Given the description of an element on the screen output the (x, y) to click on. 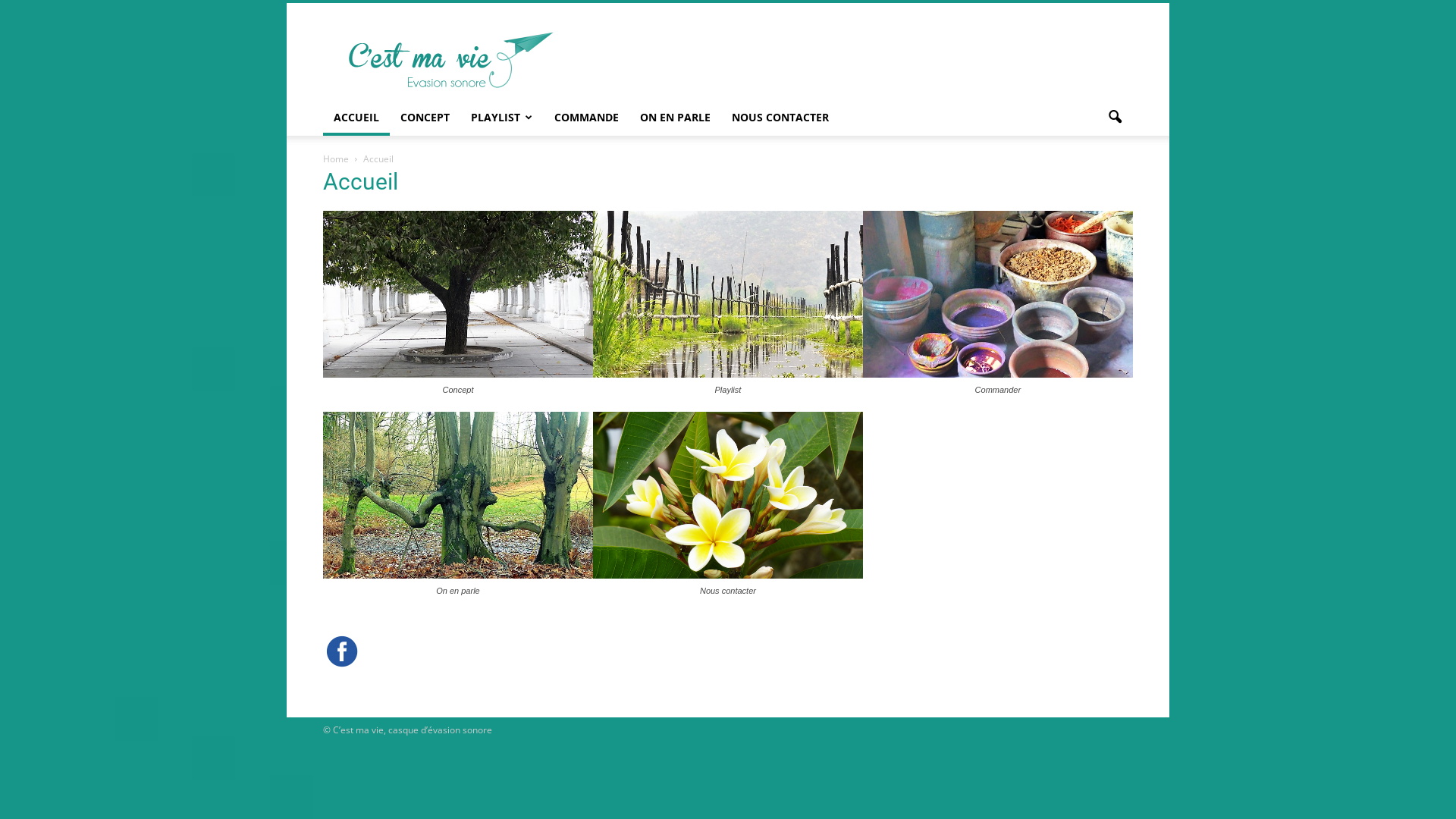
NOUS CONTACTER Element type: text (780, 117)
COMMANDE Element type: text (586, 117)
CONCEPT Element type: text (424, 117)
Home Element type: text (335, 158)
PLAYLIST Element type: text (501, 117)
ON EN PARLE Element type: text (675, 117)
ACCUEIL Element type: text (356, 117)
